Given the description of an element on the screen output the (x, y) to click on. 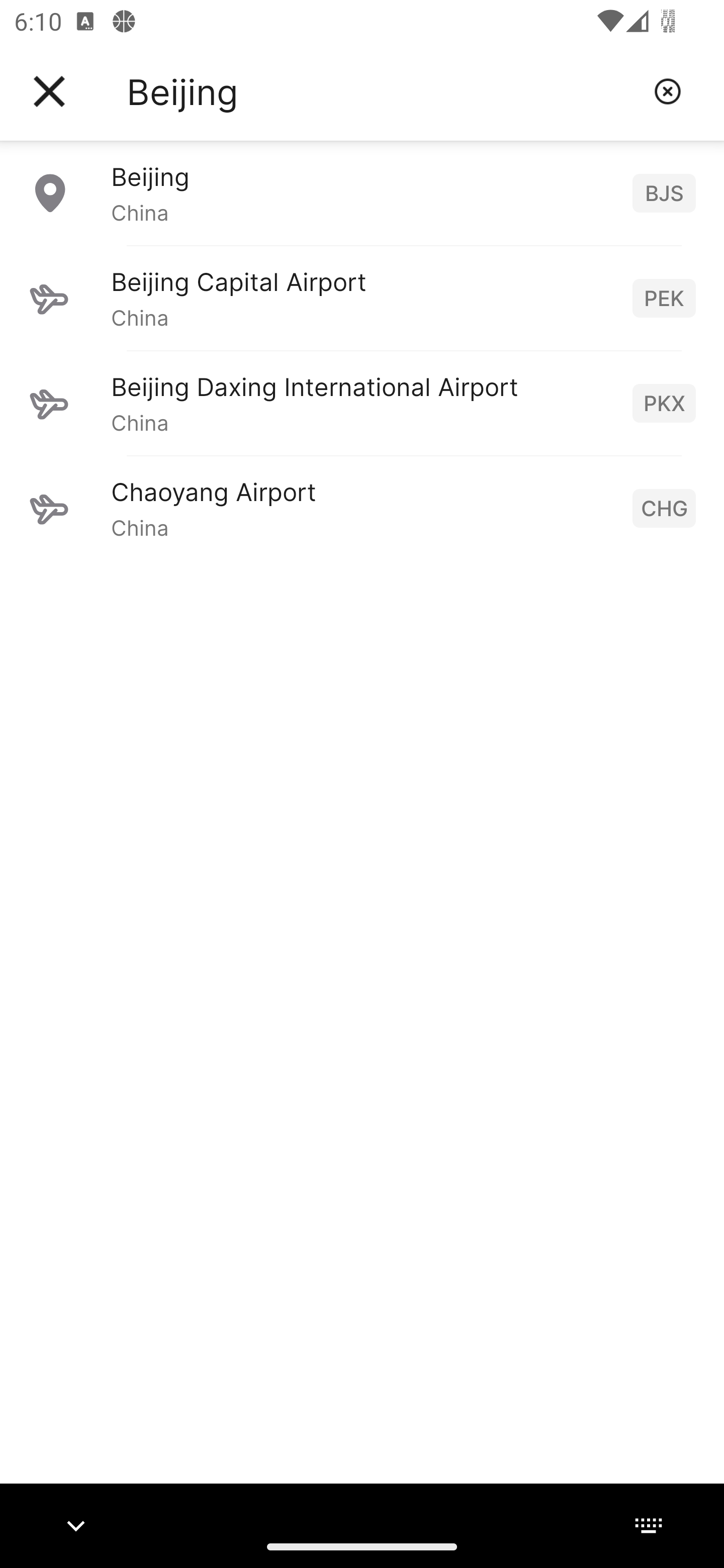
Beijing (382, 91)
Beijing China BJS (362, 192)
Beijing Capital Airport China PEK (362, 297)
Beijing Daxing International Airport China PKX (362, 402)
Chaoyang Airport China CHG (362, 507)
